Given the description of an element on the screen output the (x, y) to click on. 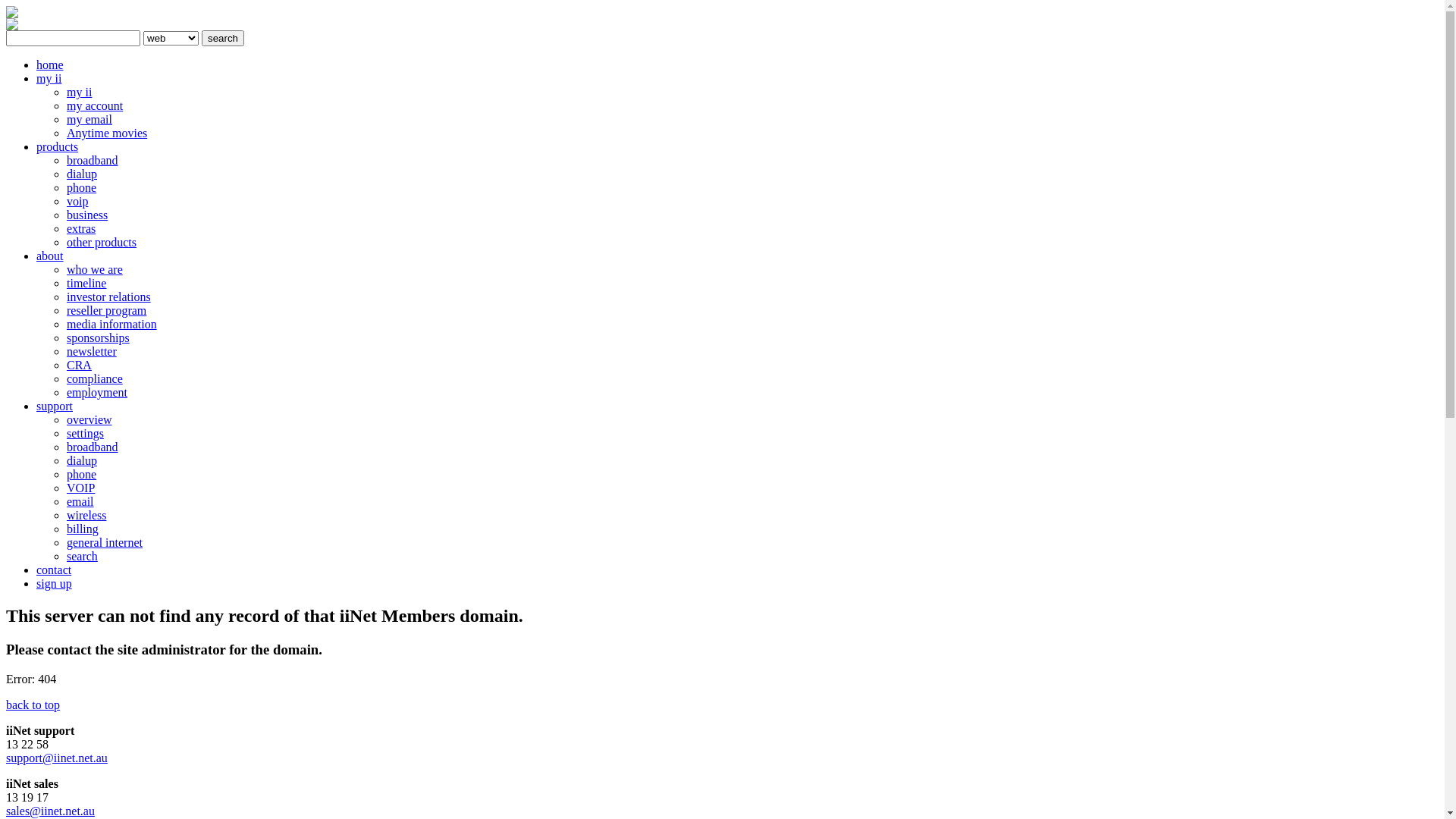
search Element type: text (81, 555)
support@iinet.net.au Element type: text (56, 757)
broadband Element type: text (92, 446)
CRA Element type: text (78, 364)
billing Element type: text (82, 528)
search Element type: text (222, 38)
timeline Element type: text (86, 282)
back to top Element type: text (32, 704)
phone Element type: text (81, 187)
VOIP Element type: text (80, 487)
who we are Element type: text (94, 269)
broadband Element type: text (92, 159)
my ii Element type: text (48, 78)
other products Element type: text (101, 241)
dialup Element type: text (81, 460)
employment Element type: text (96, 391)
my ii Element type: text (78, 91)
reseller program Element type: text (106, 310)
sign up Element type: text (54, 583)
phone Element type: text (81, 473)
general internet Element type: text (104, 542)
business Element type: text (86, 214)
home Element type: text (49, 64)
extras Element type: text (80, 228)
newsletter Element type: text (91, 351)
support Element type: text (54, 405)
about Element type: text (49, 255)
investor relations Element type: text (108, 296)
my account Element type: text (94, 105)
sales@iinet.net.au Element type: text (50, 810)
my email Element type: text (89, 118)
products Element type: text (57, 146)
settings Element type: text (84, 432)
voip Element type: text (76, 200)
email Element type: text (80, 501)
sponsorships Element type: text (97, 337)
Anytime movies Element type: text (106, 132)
contact Element type: text (53, 569)
wireless Element type: text (86, 514)
compliance Element type: text (94, 378)
overview Element type: text (89, 419)
media information Element type: text (111, 323)
dialup Element type: text (81, 173)
